Given the description of an element on the screen output the (x, y) to click on. 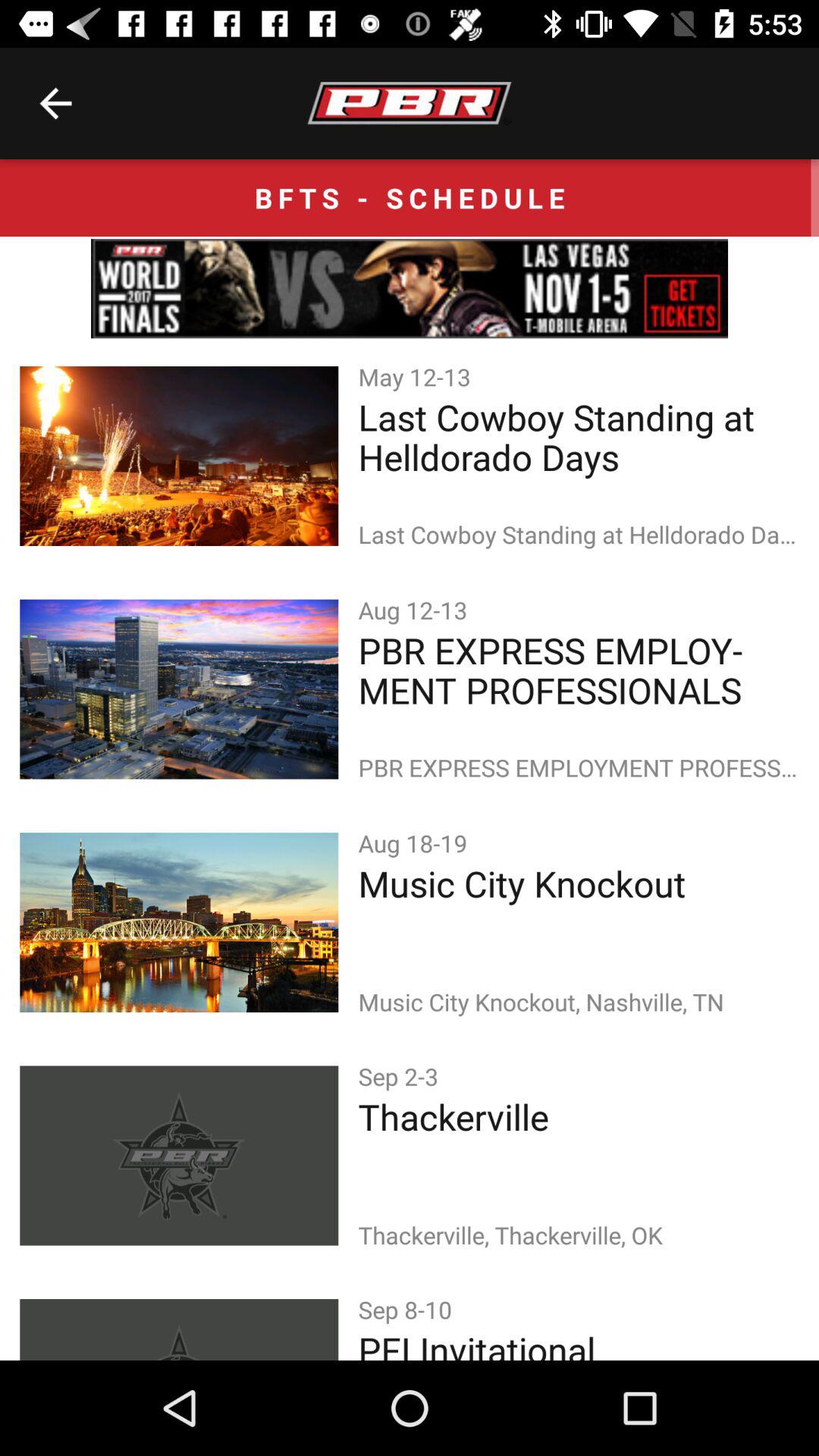
choose icon below the bfts - schedule icon (409, 288)
